Given the description of an element on the screen output the (x, y) to click on. 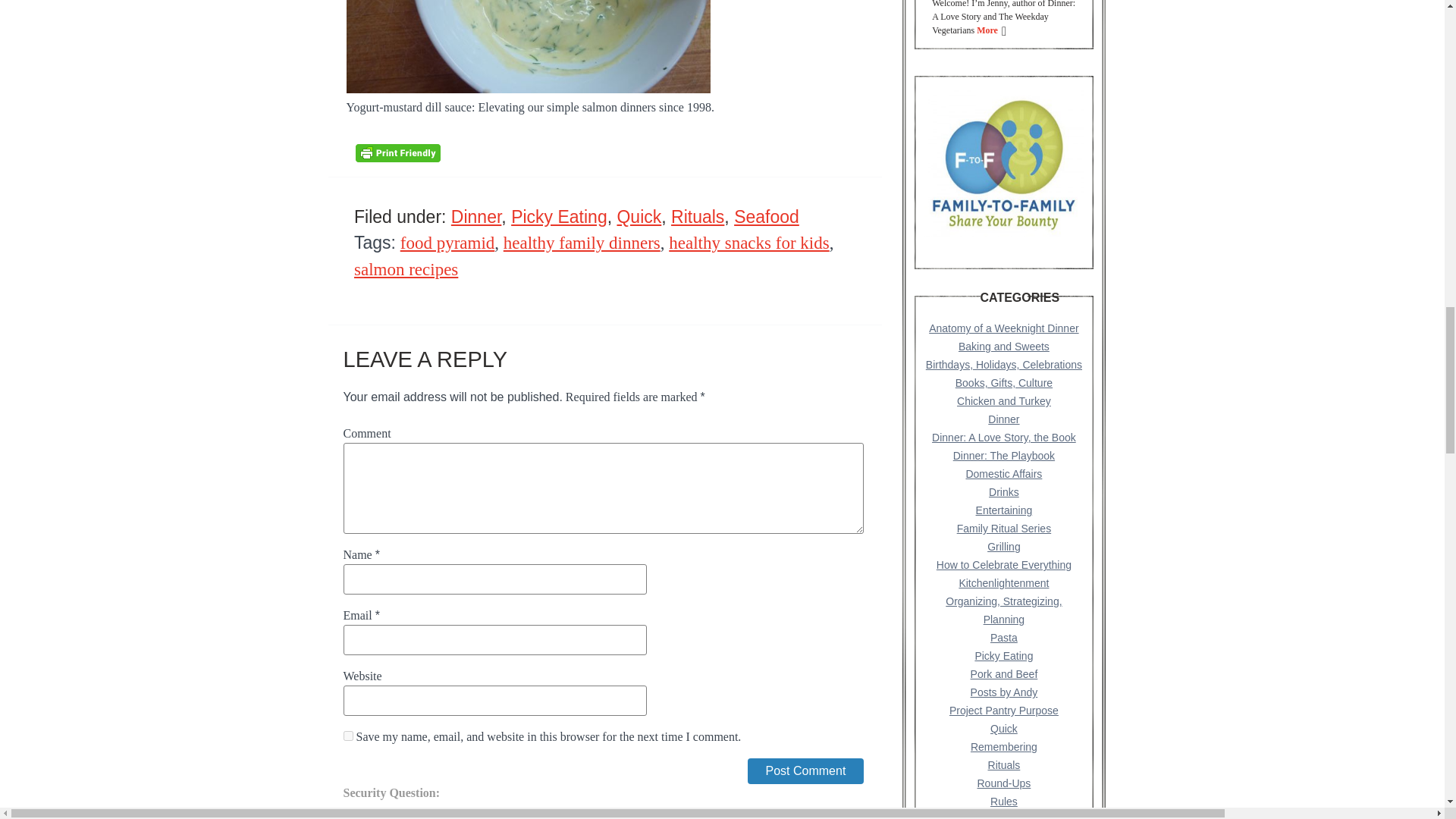
Post Comment (806, 770)
yes (347, 736)
unnamed (1003, 163)
salmon recipes (405, 269)
healthy snacks for kids (748, 242)
Picky Eating (559, 216)
Seafood (766, 216)
healthy family dinners (582, 242)
Post Comment (806, 770)
dip (528, 46)
Rituals (697, 216)
Quick (638, 216)
food pyramid (447, 242)
Dinner (475, 216)
